Given the description of an element on the screen output the (x, y) to click on. 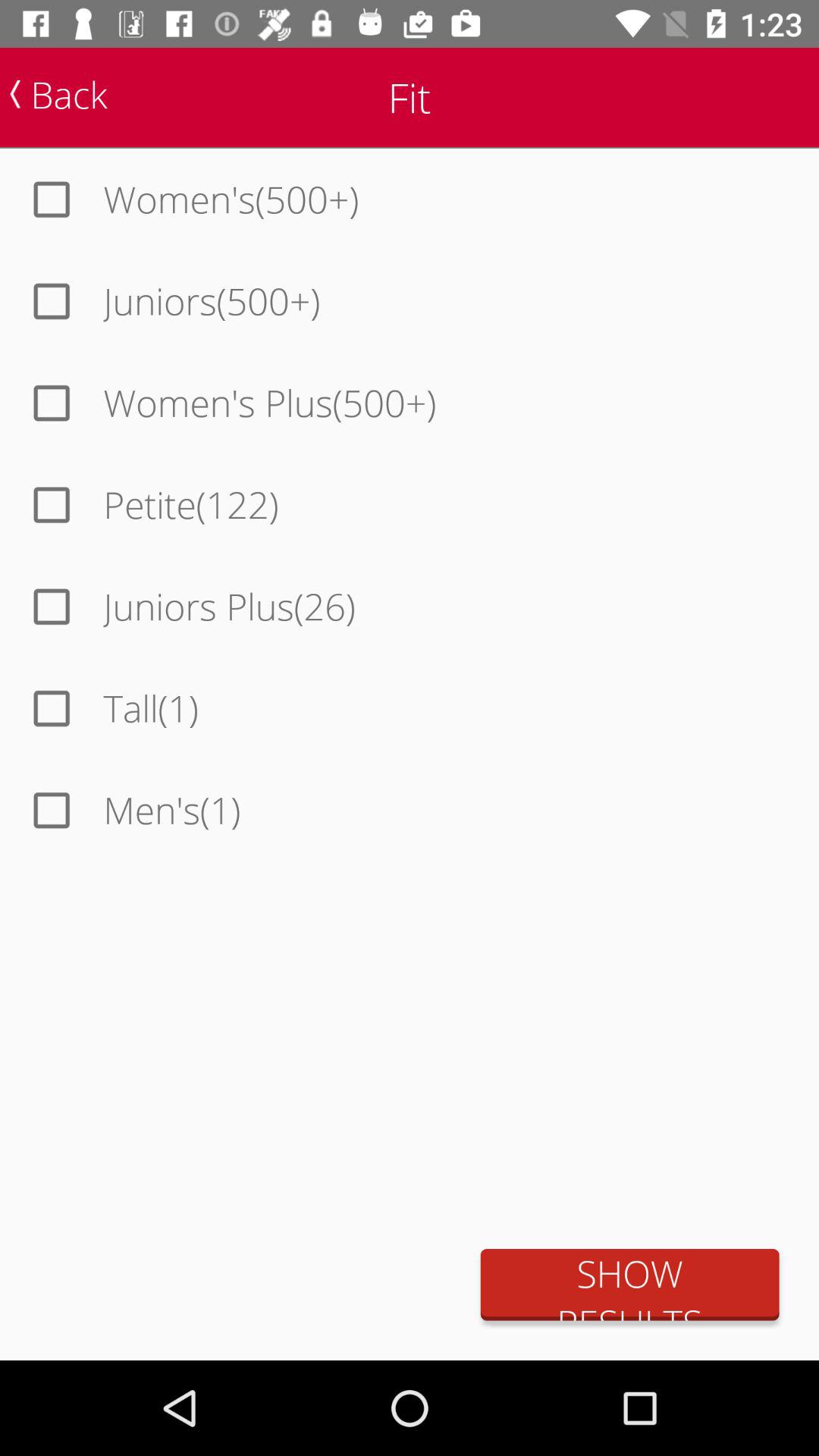
flip until show results (629, 1284)
